Given the description of an element on the screen output the (x, y) to click on. 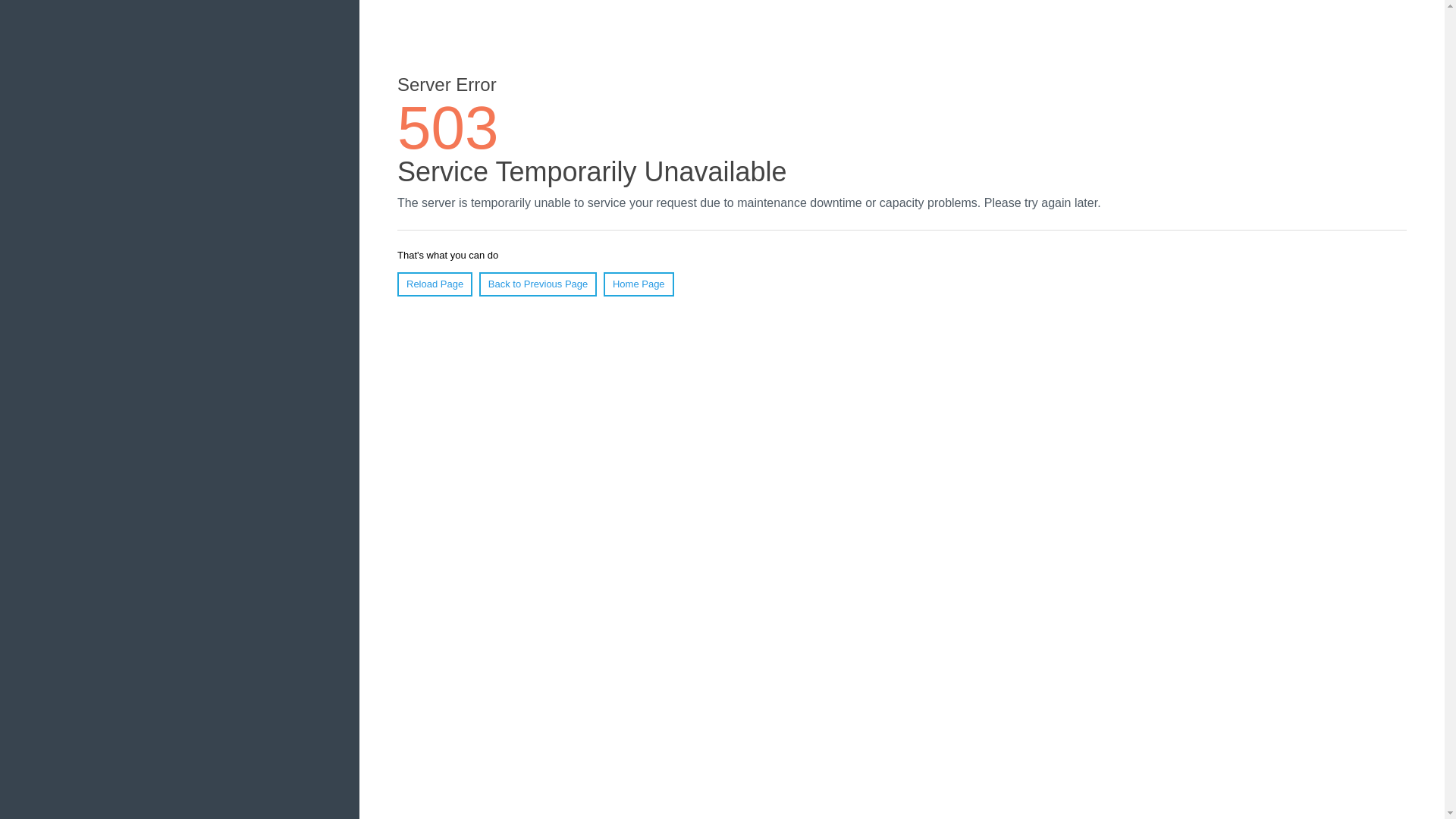
Reload Page (434, 283)
Back to Previous Page (537, 283)
Home Page (639, 283)
